Given the description of an element on the screen output the (x, y) to click on. 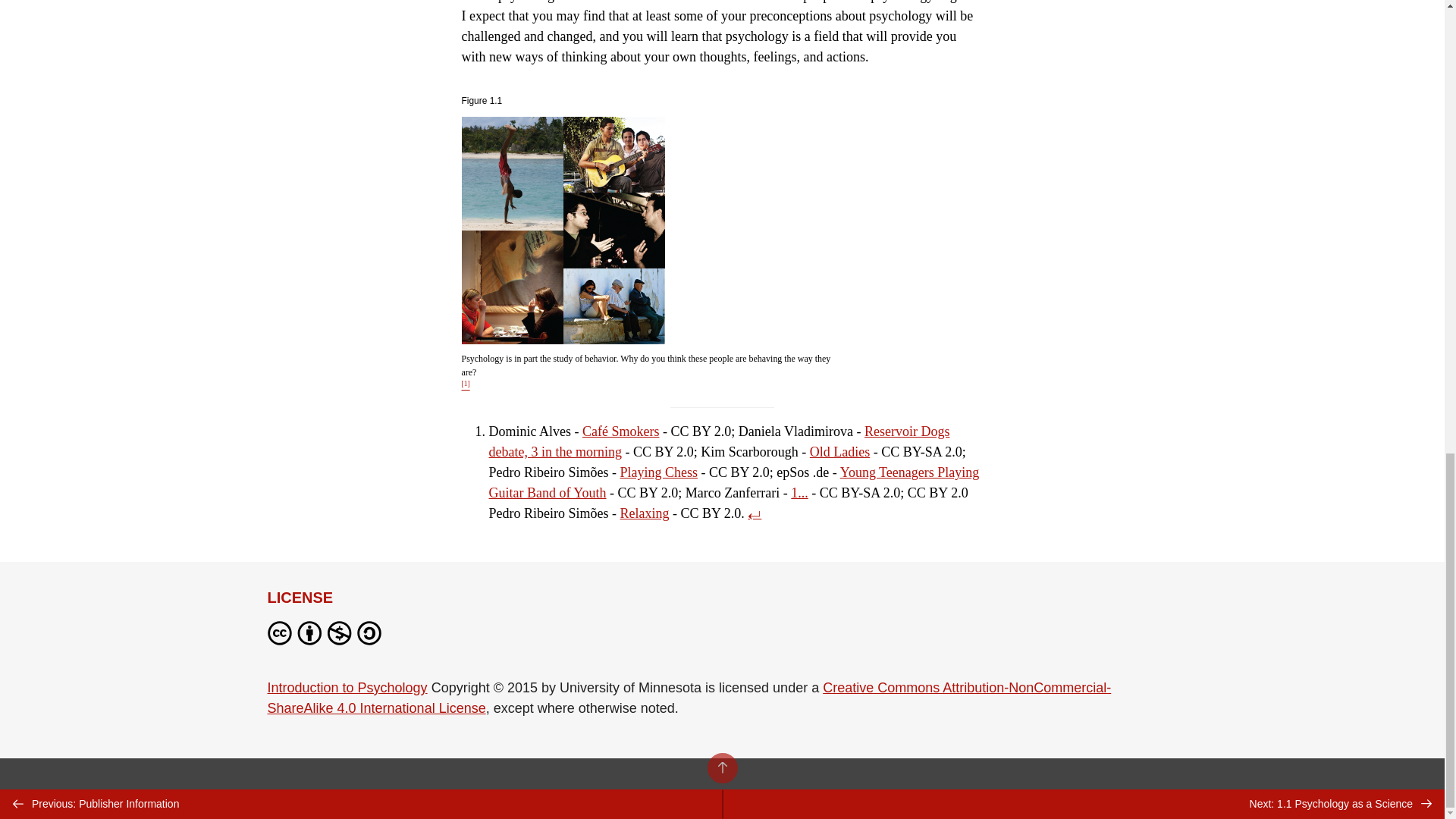
Young Teenagers Playing Guitar Band of Youth (732, 482)
Playing Chess (659, 472)
Reservoir Dogs debate, 3 in the morning (718, 441)
1... (799, 492)
Old Ladies (839, 451)
Introduction to Psychology (346, 687)
Relaxing (644, 513)
